Given the description of an element on the screen output the (x, y) to click on. 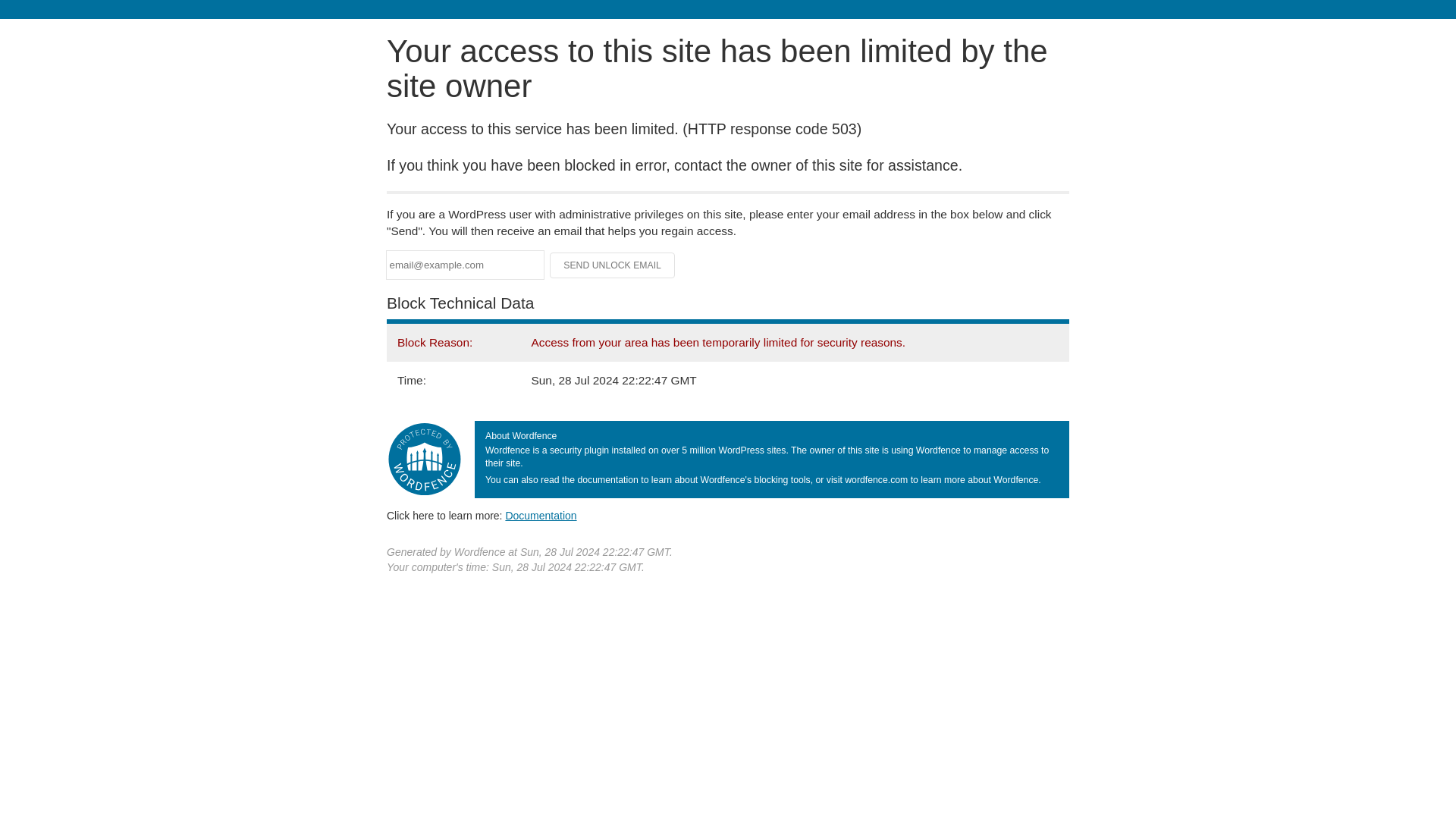
Documentation (540, 515)
Send Unlock Email (612, 265)
Send Unlock Email (612, 265)
